Given the description of an element on the screen output the (x, y) to click on. 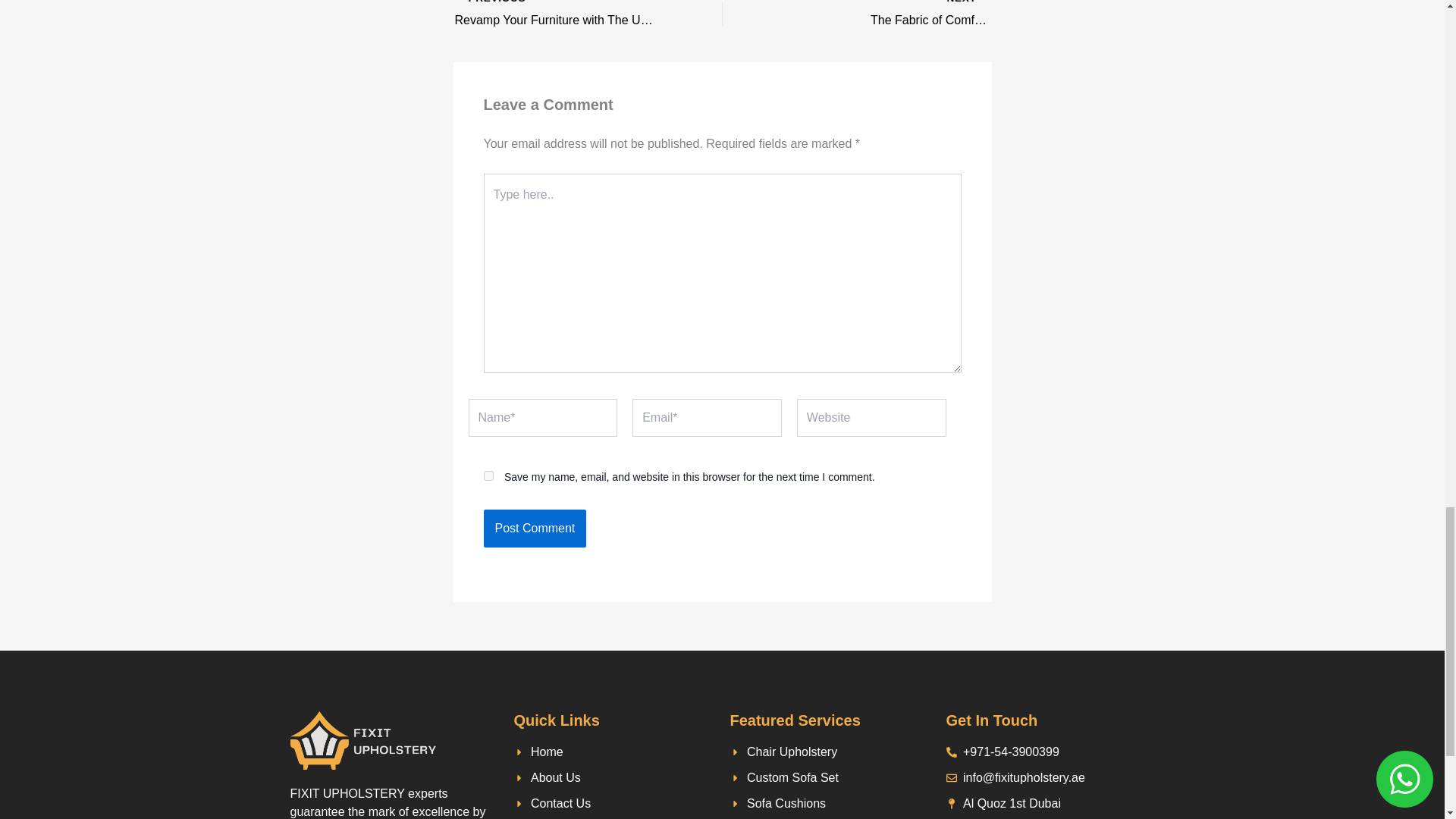
Post Comment (534, 528)
yes (488, 475)
Revamp Your Furniture with The Upholstery Shop (561, 15)
